Given the description of an element on the screen output the (x, y) to click on. 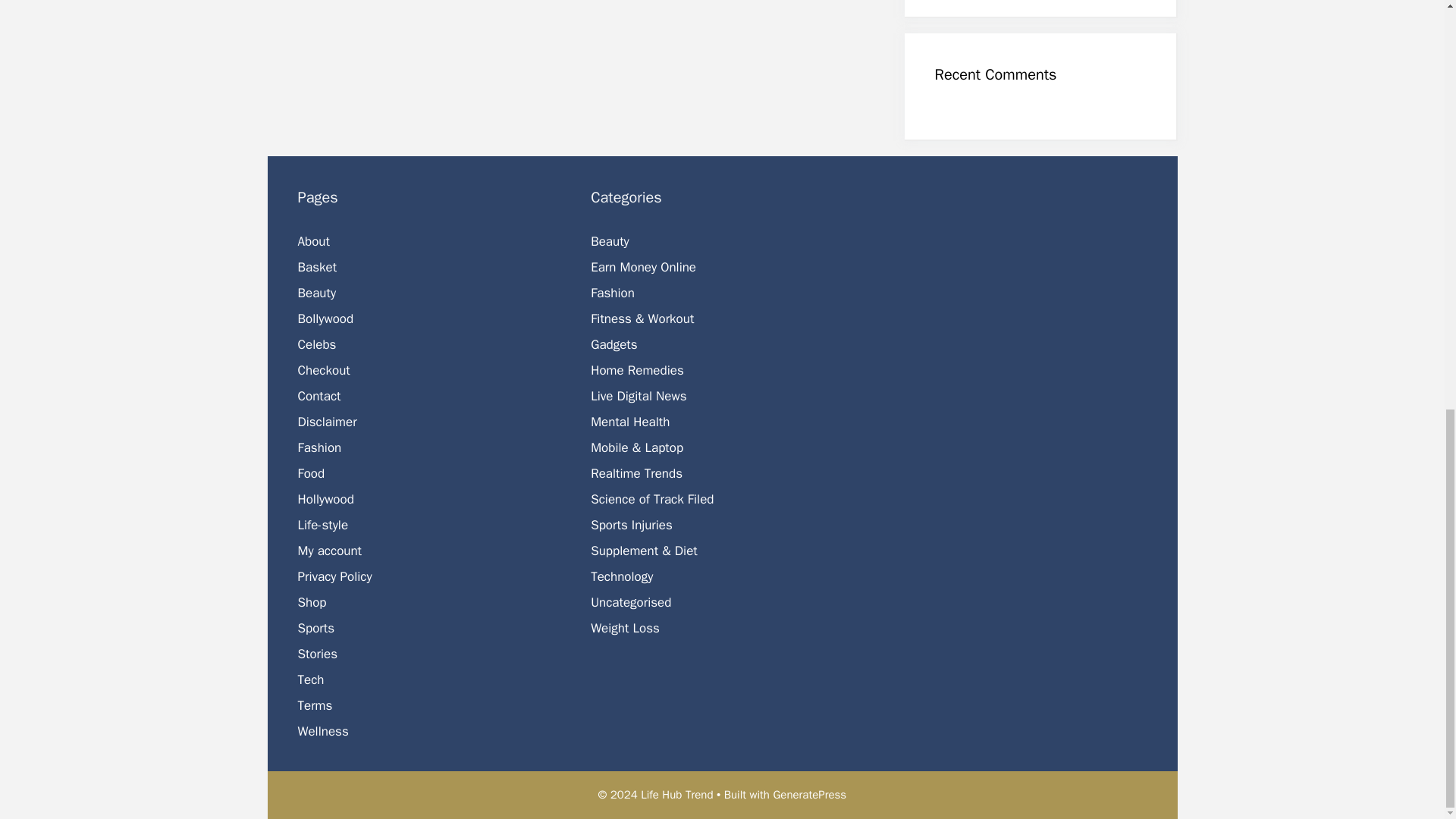
Scroll back to top (1406, 721)
